Given the description of an element on the screen output the (x, y) to click on. 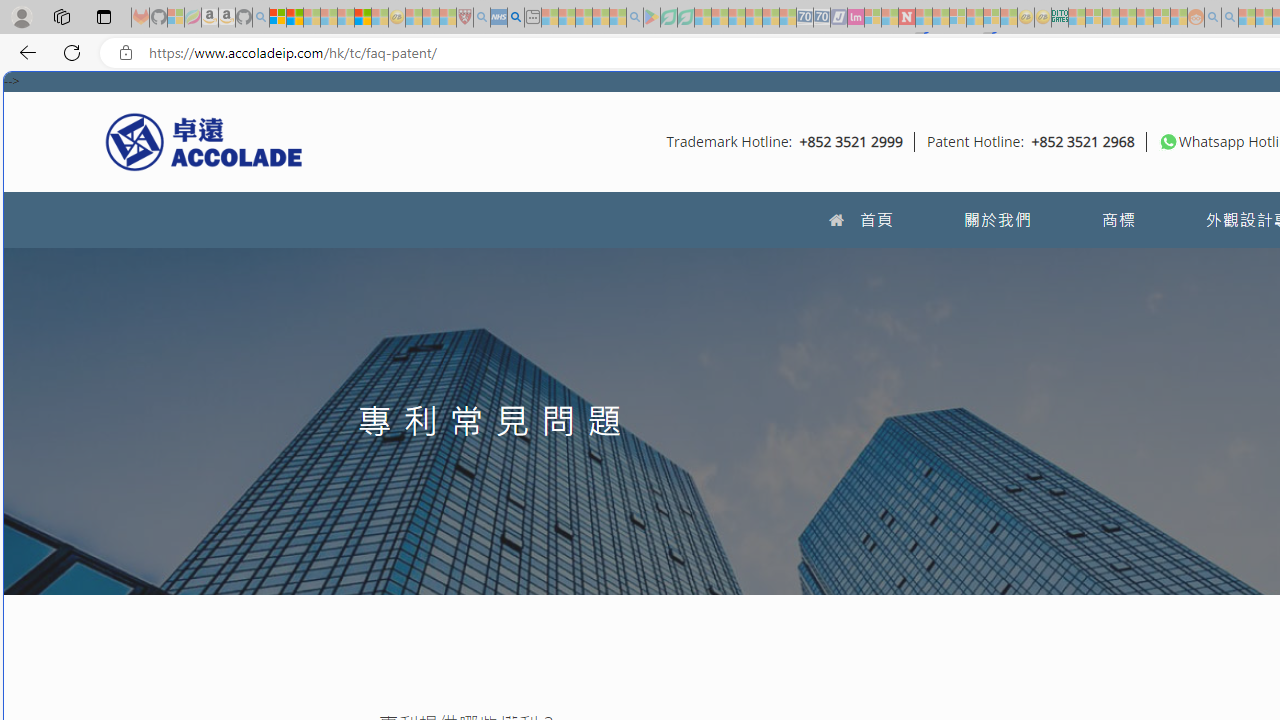
New tab - Sleeping (532, 17)
Accolade IP HK Logo (203, 141)
Pets - MSN - Sleeping (600, 17)
Recipes - MSN - Sleeping (413, 17)
